Given the description of an element on the screen output the (x, y) to click on. 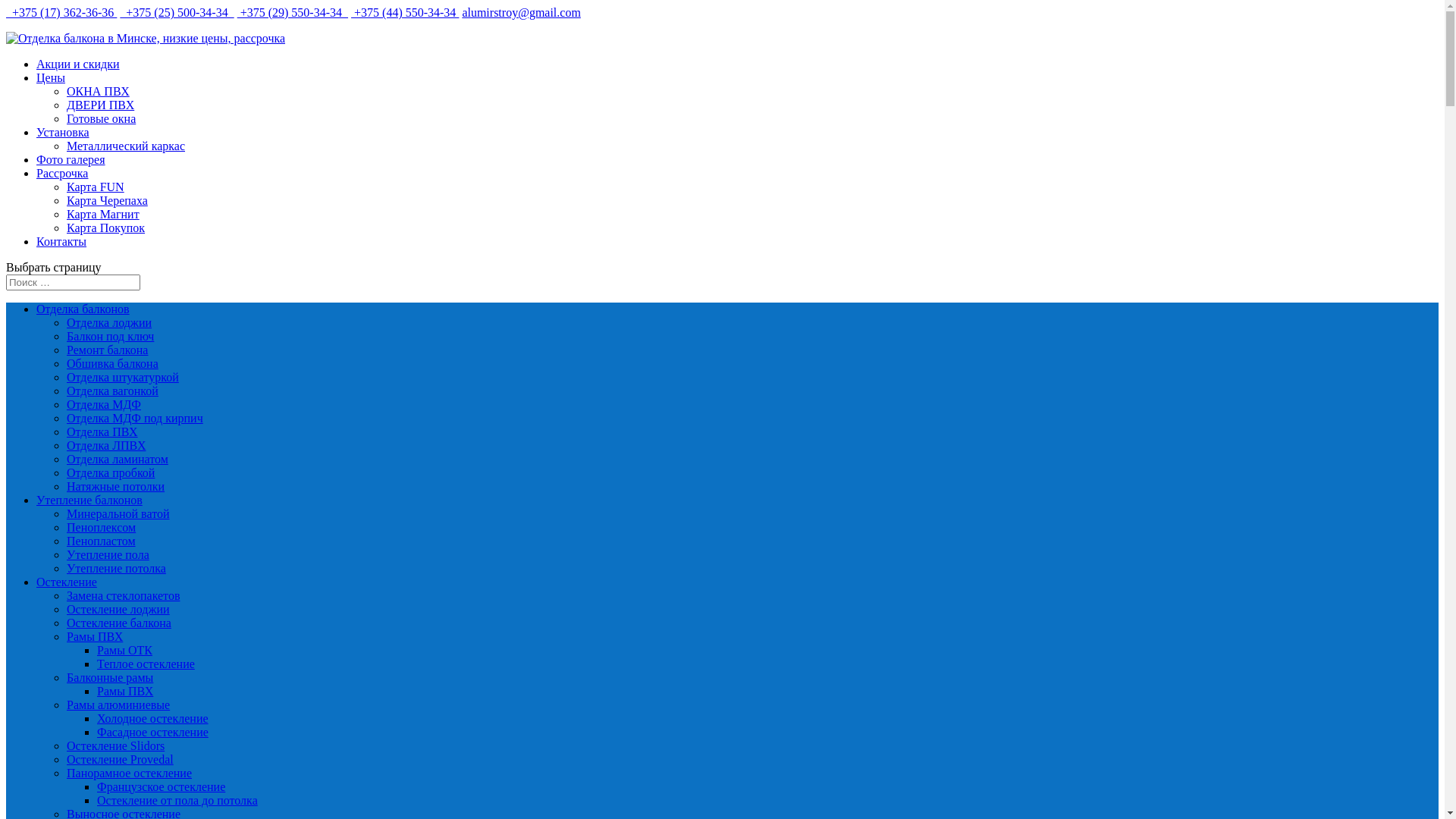
alumirstroy@gmail.com Element type: text (520, 12)
  +375 (17) 362-36-36  Element type: text (61, 12)
 +375 (44) 550-34-34  Element type: text (404, 12)
  +375 (25) 500-34-34   Element type: text (176, 12)
 +375 (29) 550-34-34   Element type: text (292, 12)
